Given the description of an element on the screen output the (x, y) to click on. 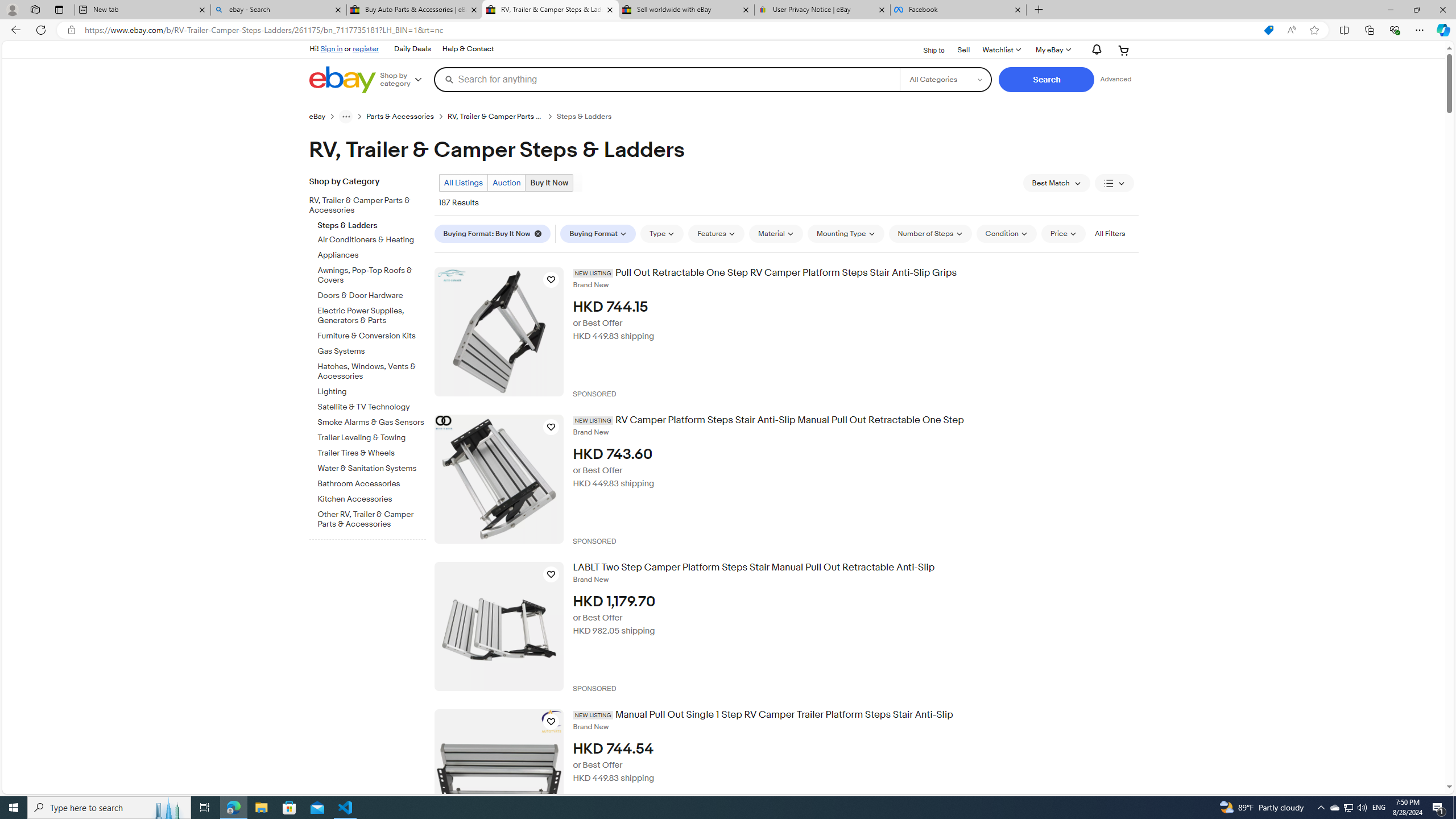
Advanced Search (1115, 78)
Buying Format (598, 233)
All Listings (462, 182)
Daily Deals (411, 49)
Other RV, Trailer & Camper Parts & Accessories (371, 517)
eBay (323, 116)
Electric Power Supplies, Generators & Parts (371, 316)
Number of Steps (930, 233)
View: List View (1114, 182)
Features (716, 233)
Electric Power Supplies, Generators & Parts (371, 313)
Doors & Door Hardware (371, 293)
